Given the description of an element on the screen output the (x, y) to click on. 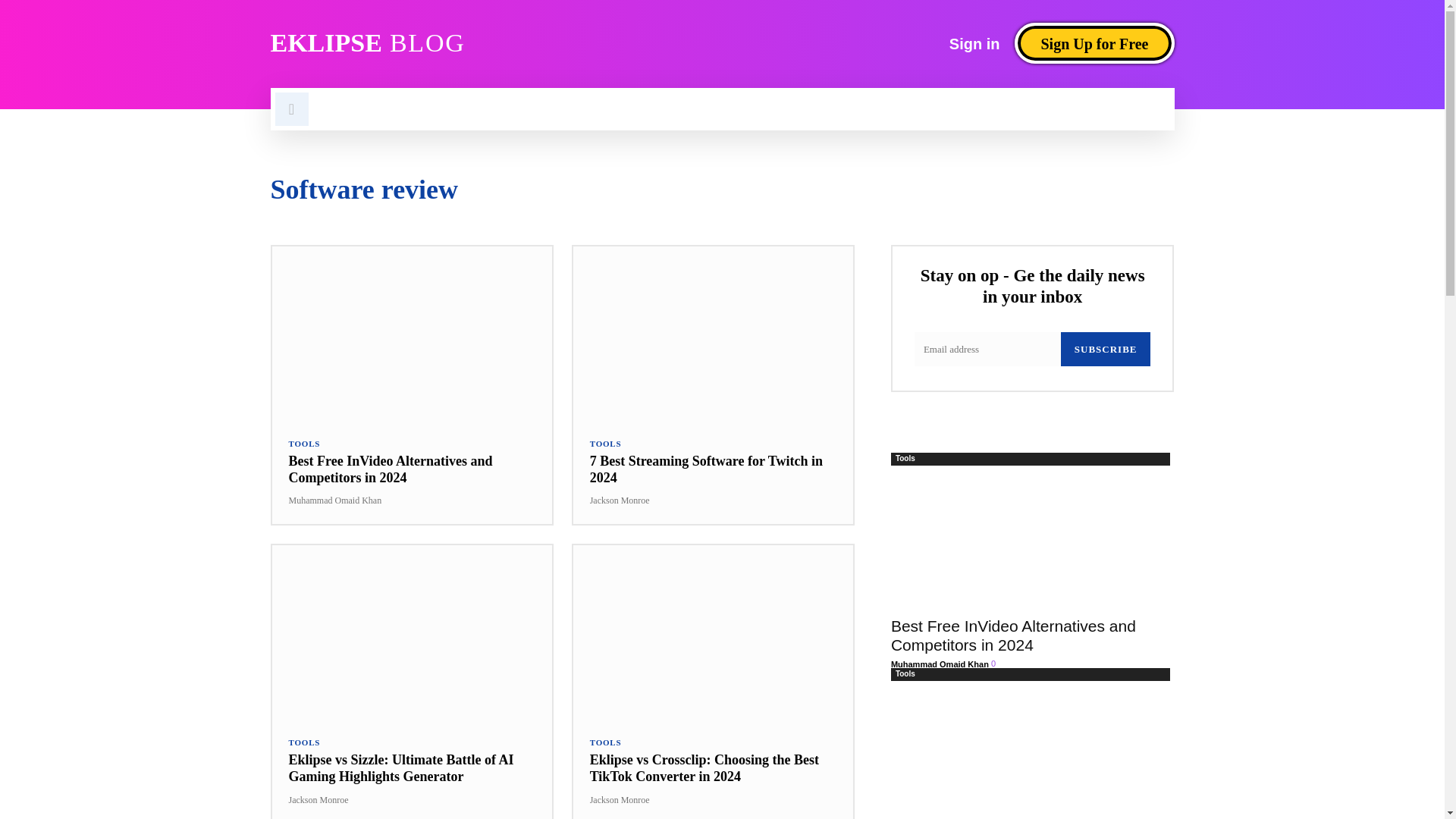
Sign Up for Free (1093, 42)
7 Best Streaming Software for Twitch in 2024 (713, 333)
Sign in (974, 43)
Sign Up for Free (1093, 42)
Best Free InVideo Alternatives and Competitors in 2024 (390, 469)
Best Free InVideo Alternatives and Competitors in 2024 (410, 333)
Sign in (974, 43)
7 Best Streaming Software for Twitch in 2024 (705, 469)
